Given the description of an element on the screen output the (x, y) to click on. 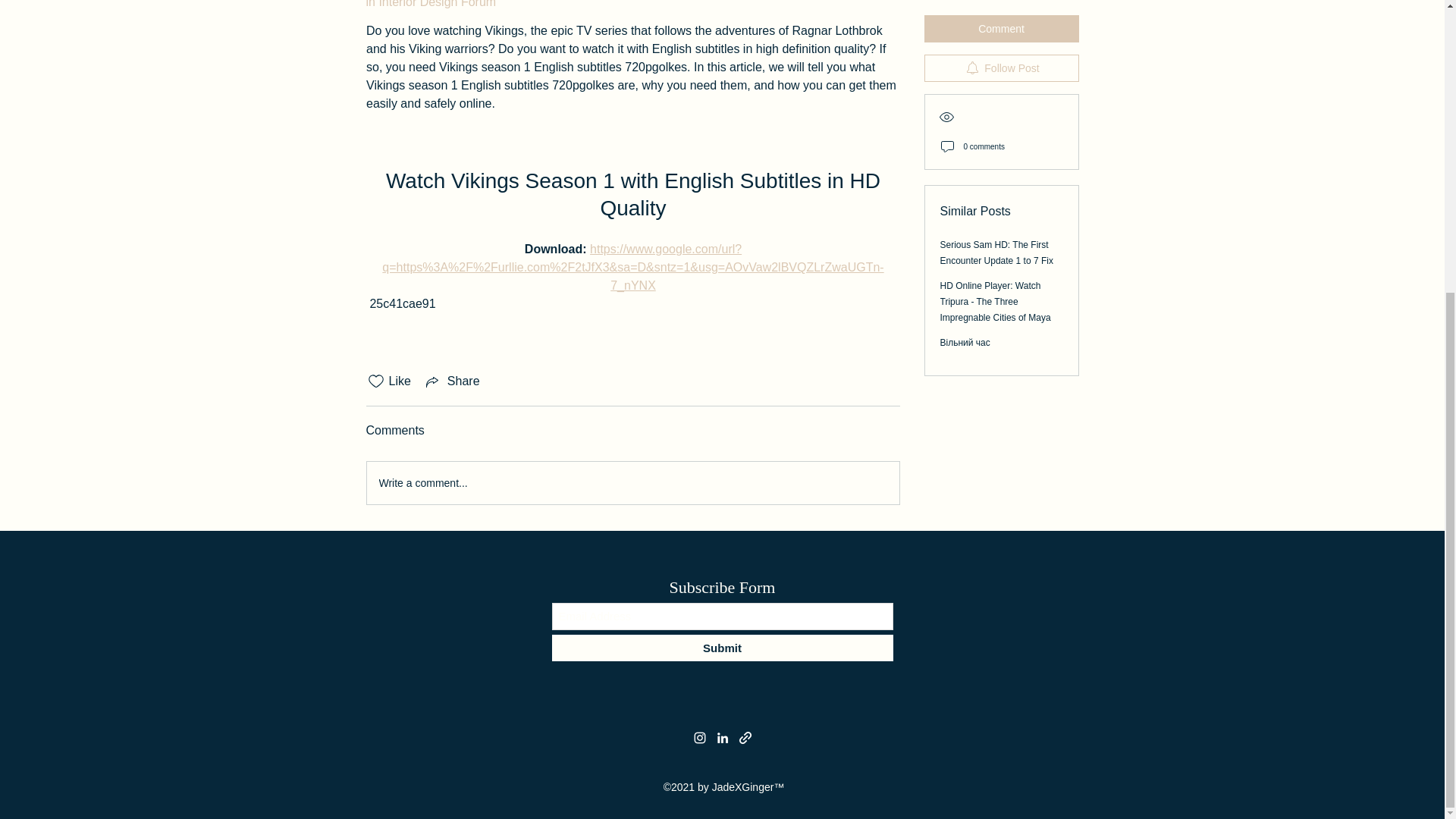
Write a comment... (632, 482)
Share (451, 381)
Serious Sam HD: The First Encounter Update 1 to 7 Fix (996, 126)
Submit (722, 647)
in Interior Design Forum (430, 4)
